Given the description of an element on the screen output the (x, y) to click on. 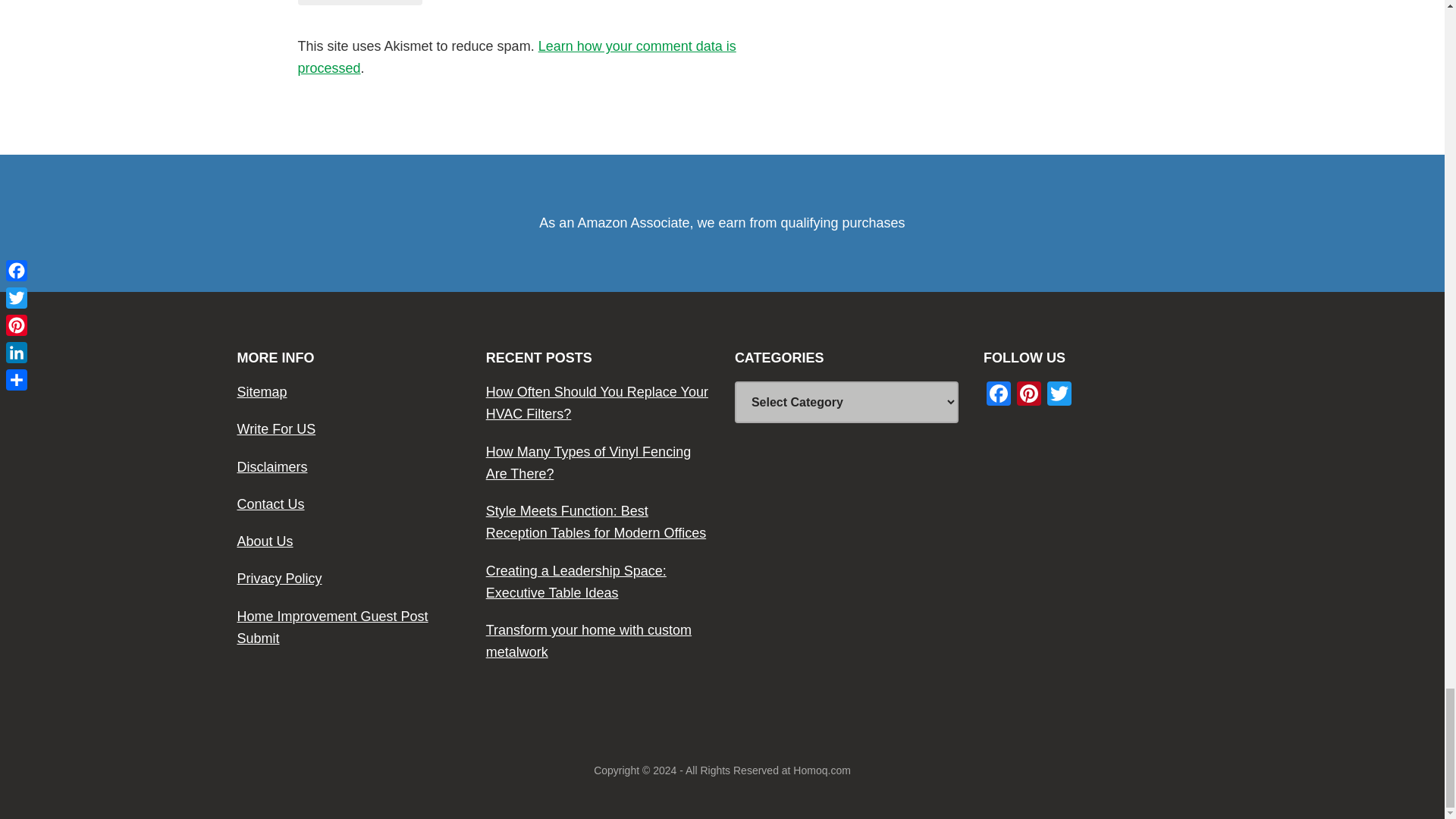
Facebook (998, 395)
Twitter (1058, 395)
Pinterest (1028, 395)
Post Comment (359, 2)
